Given the description of an element on the screen output the (x, y) to click on. 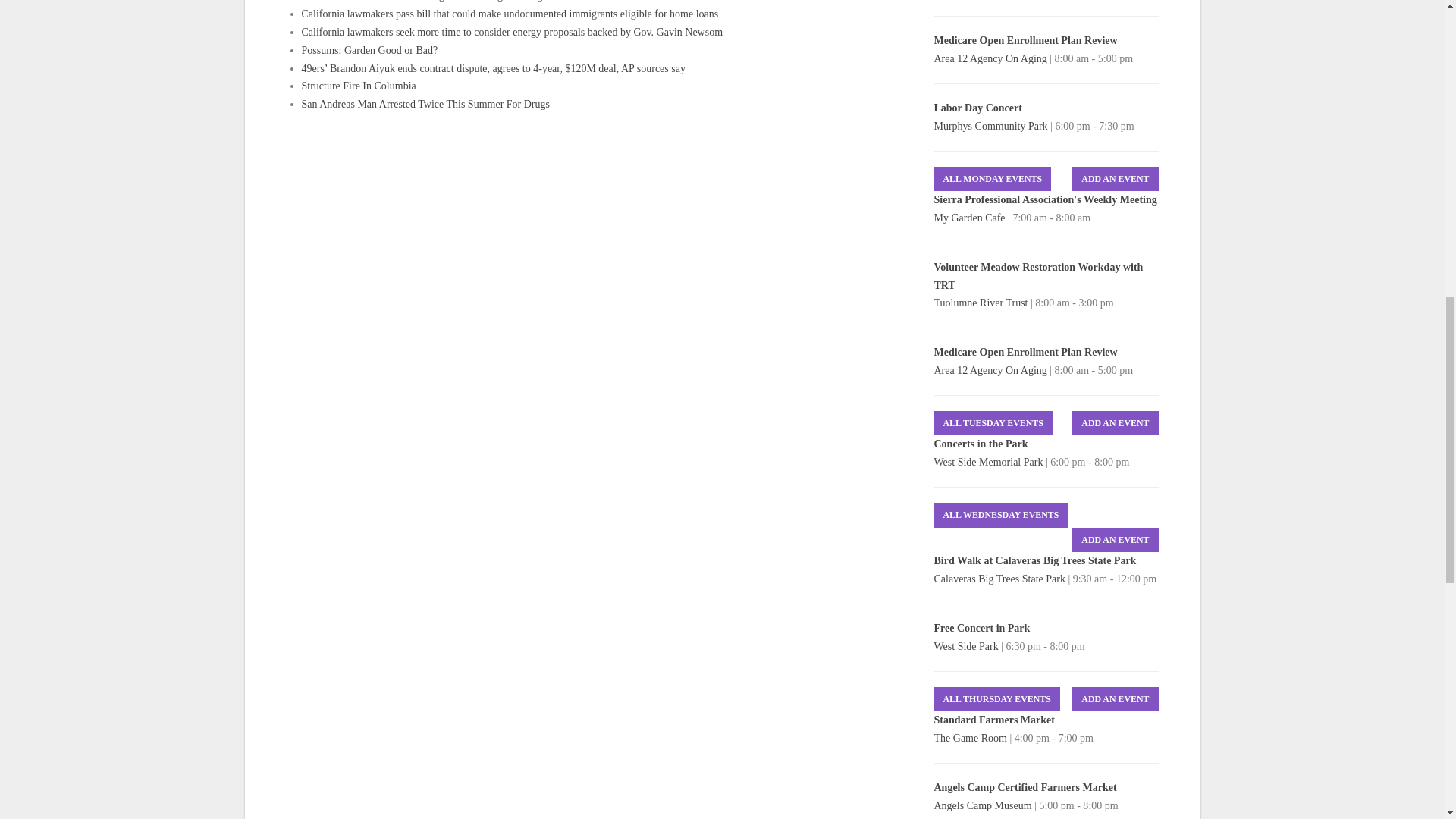
All Thursday Events (996, 699)
Add An Event (1114, 179)
Add An Event (1114, 423)
Add An Event (1114, 699)
All Wednesday Events (1001, 514)
All Monday Events (992, 179)
All Tuesday Events (993, 423)
Add An Event (1114, 539)
